Given the description of an element on the screen output the (x, y) to click on. 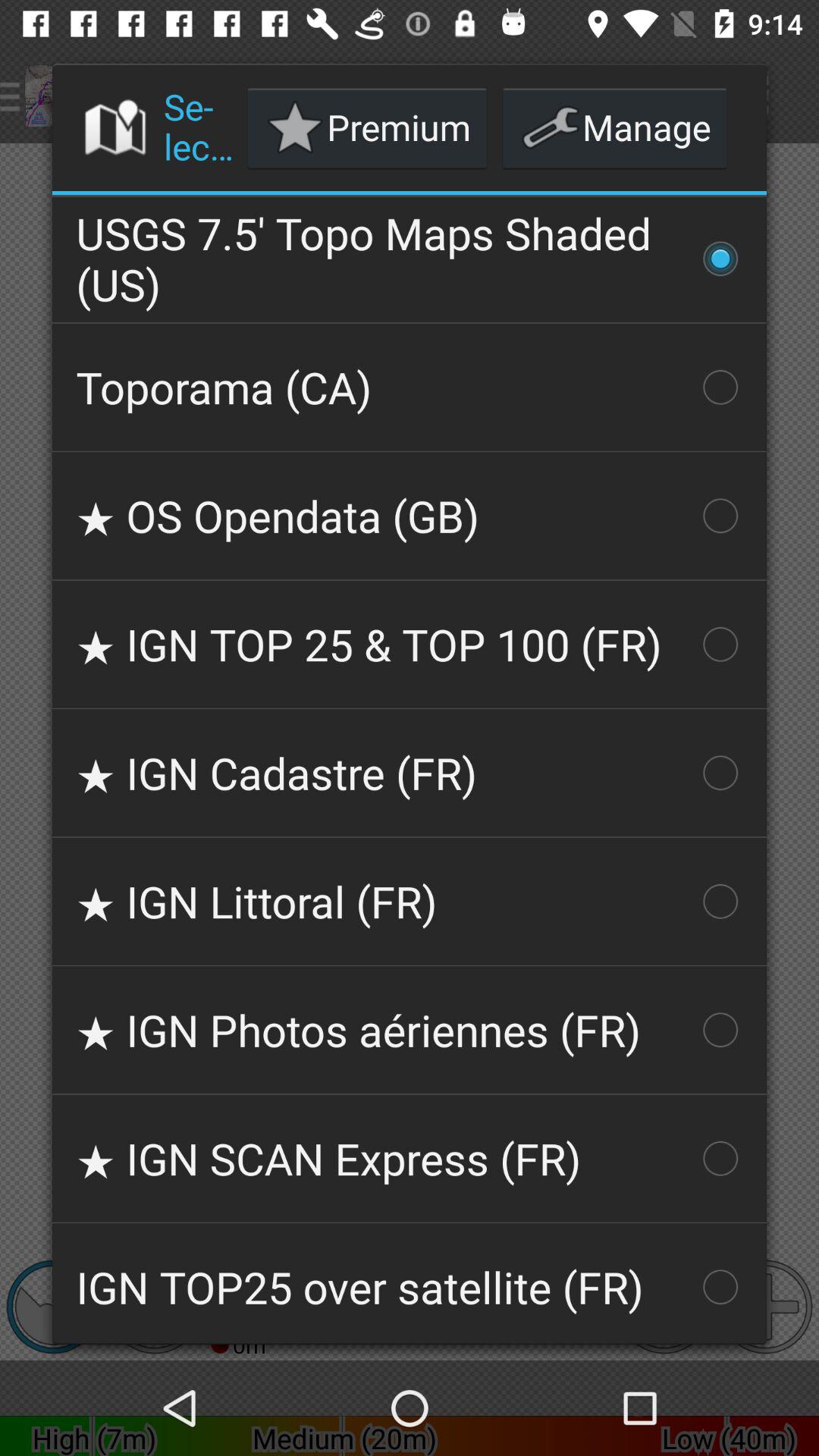
click icon next to premium (614, 127)
